Given the description of an element on the screen output the (x, y) to click on. 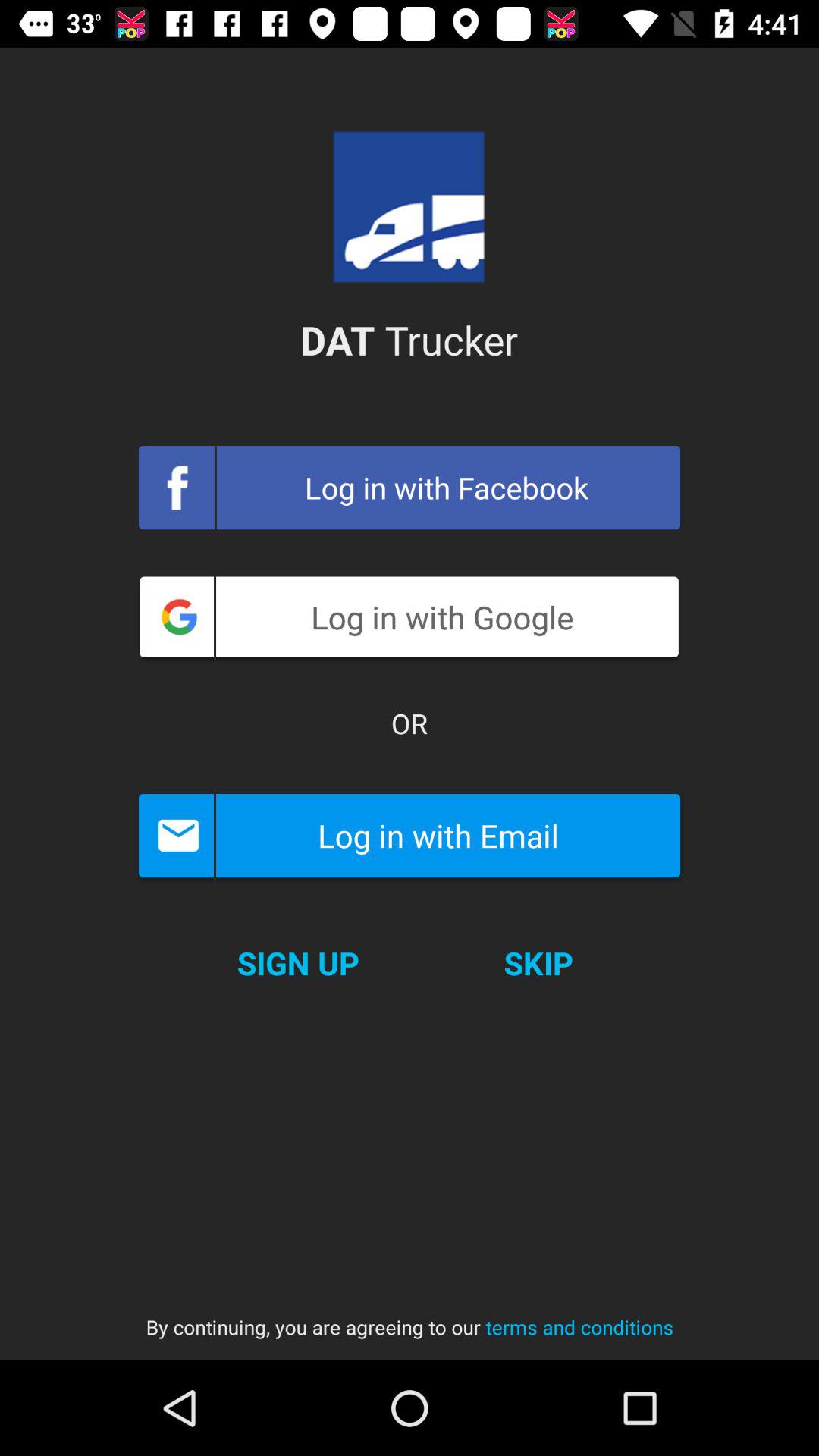
swipe until sign up icon (297, 962)
